Given the description of an element on the screen output the (x, y) to click on. 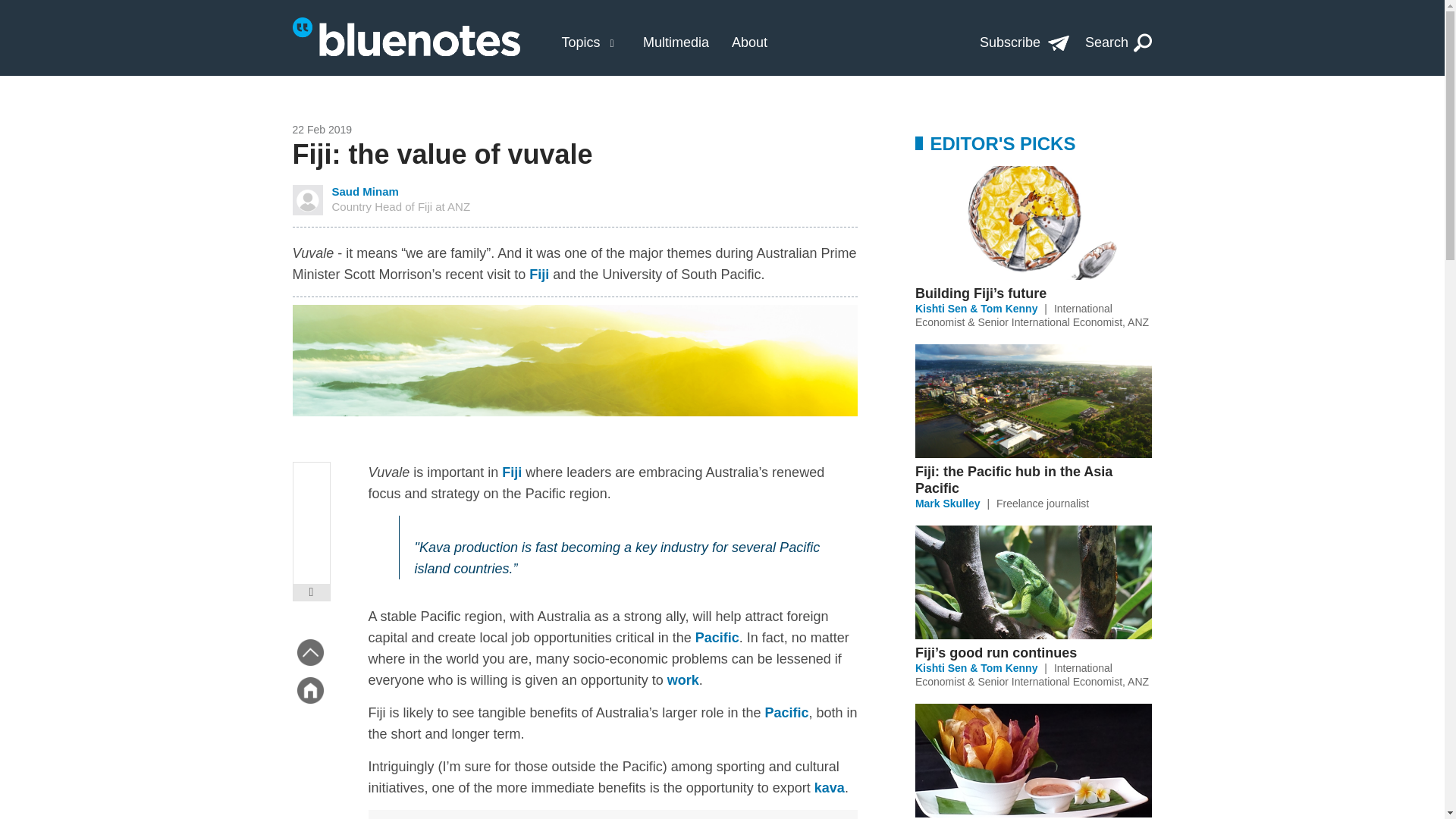
Subscribe (1023, 42)
Fiji: the Pacific hub in the Asia Pacific (1033, 479)
Search (1118, 42)
About (749, 42)
Freelance journalist (1042, 503)
Multimedia (676, 42)
Fiji (538, 273)
Topics (579, 42)
